Given the description of an element on the screen output the (x, y) to click on. 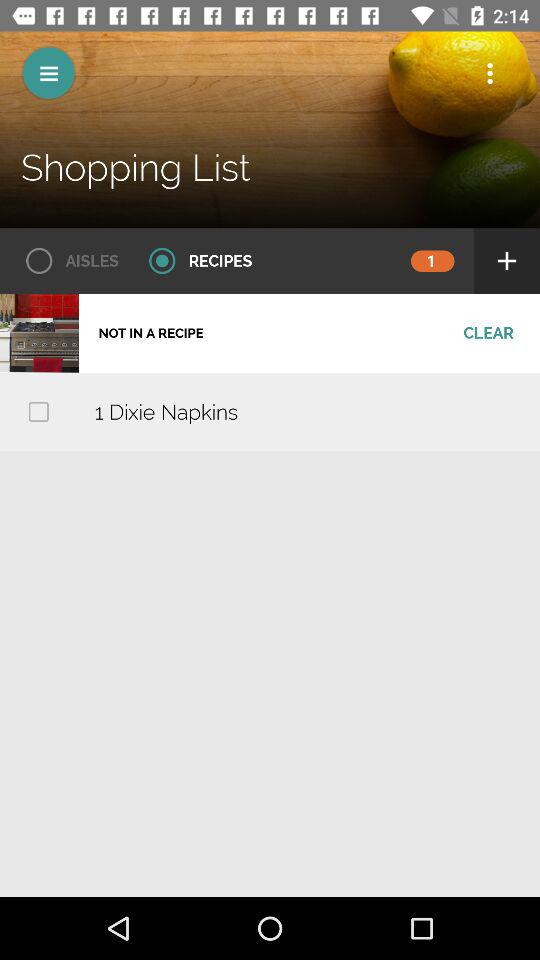
show more option (490, 73)
